Given the description of an element on the screen output the (x, y) to click on. 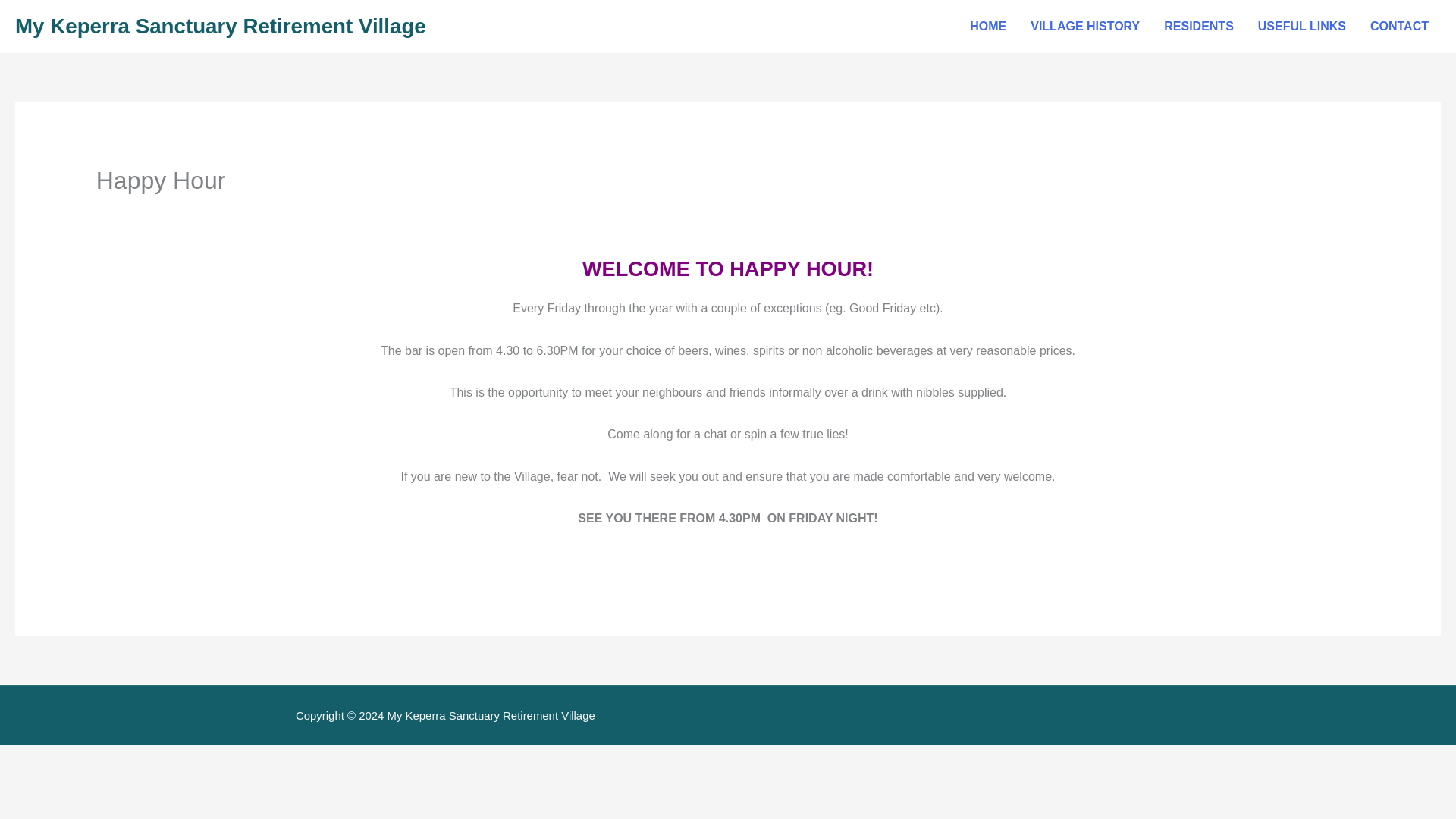
USEFUL LINKS (1302, 26)
HOME (987, 26)
VILLAGE HISTORY (1084, 26)
My Keperra Sanctuary Retirement Village (220, 25)
RESIDENTS (1198, 26)
CONTACT (1399, 26)
